Given the description of an element on the screen output the (x, y) to click on. 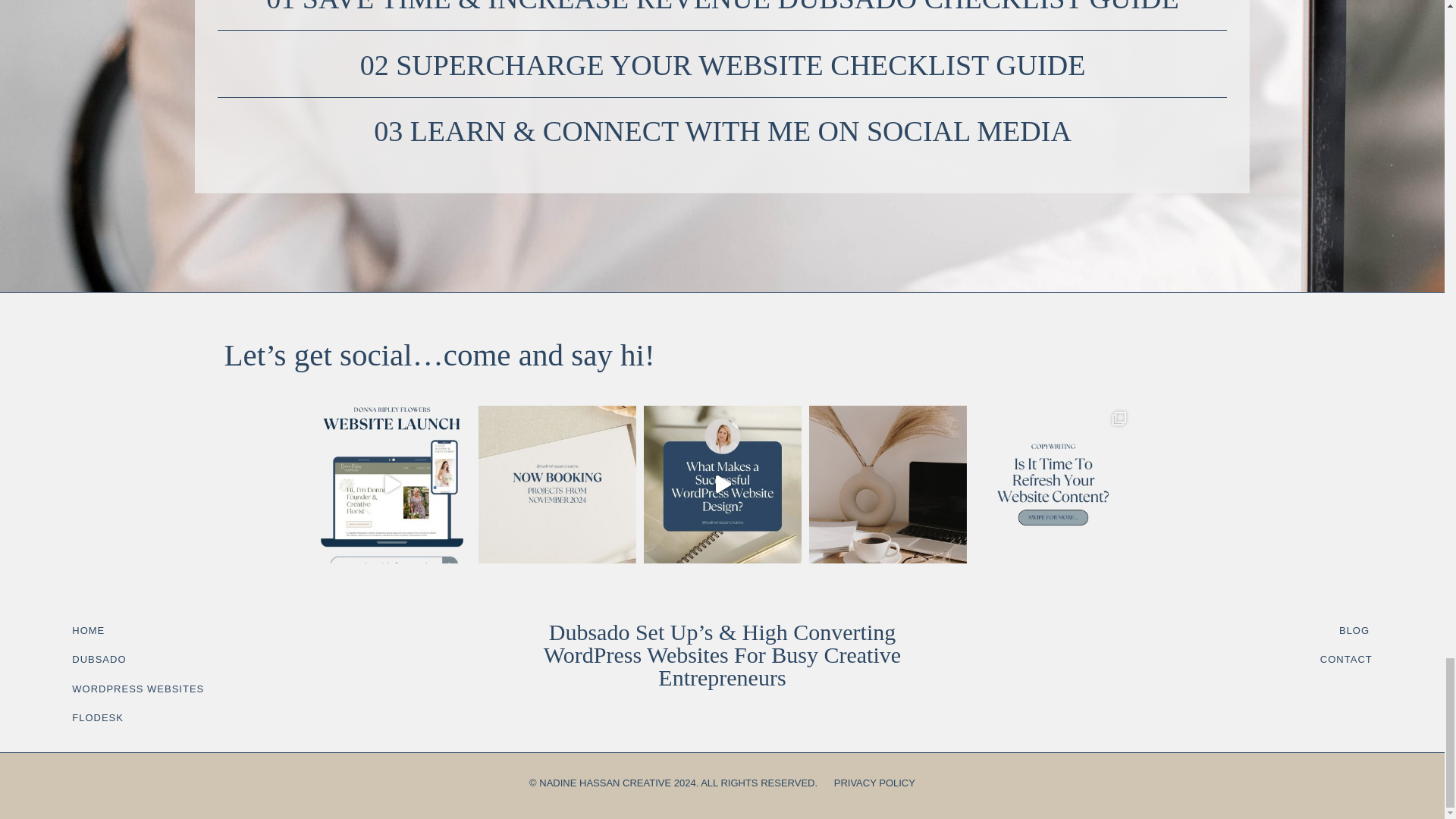
BLOG (1354, 630)
DUBSADO (98, 659)
WORDPRESS WEBSITES (137, 688)
PRIVACY POLICY (874, 782)
FLODESK (97, 717)
CONTACT (1346, 659)
HOME (87, 630)
